Given the description of an element on the screen output the (x, y) to click on. 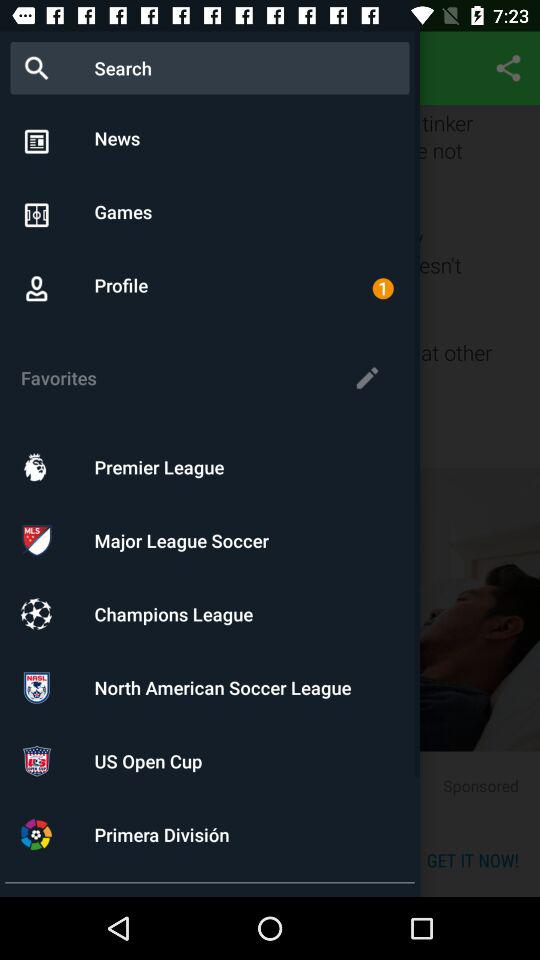
click on the label left to us open cup (36, 760)
the icon shown in the last option positioned at the bottom of the page (36, 834)
